Given the description of an element on the screen output the (x, y) to click on. 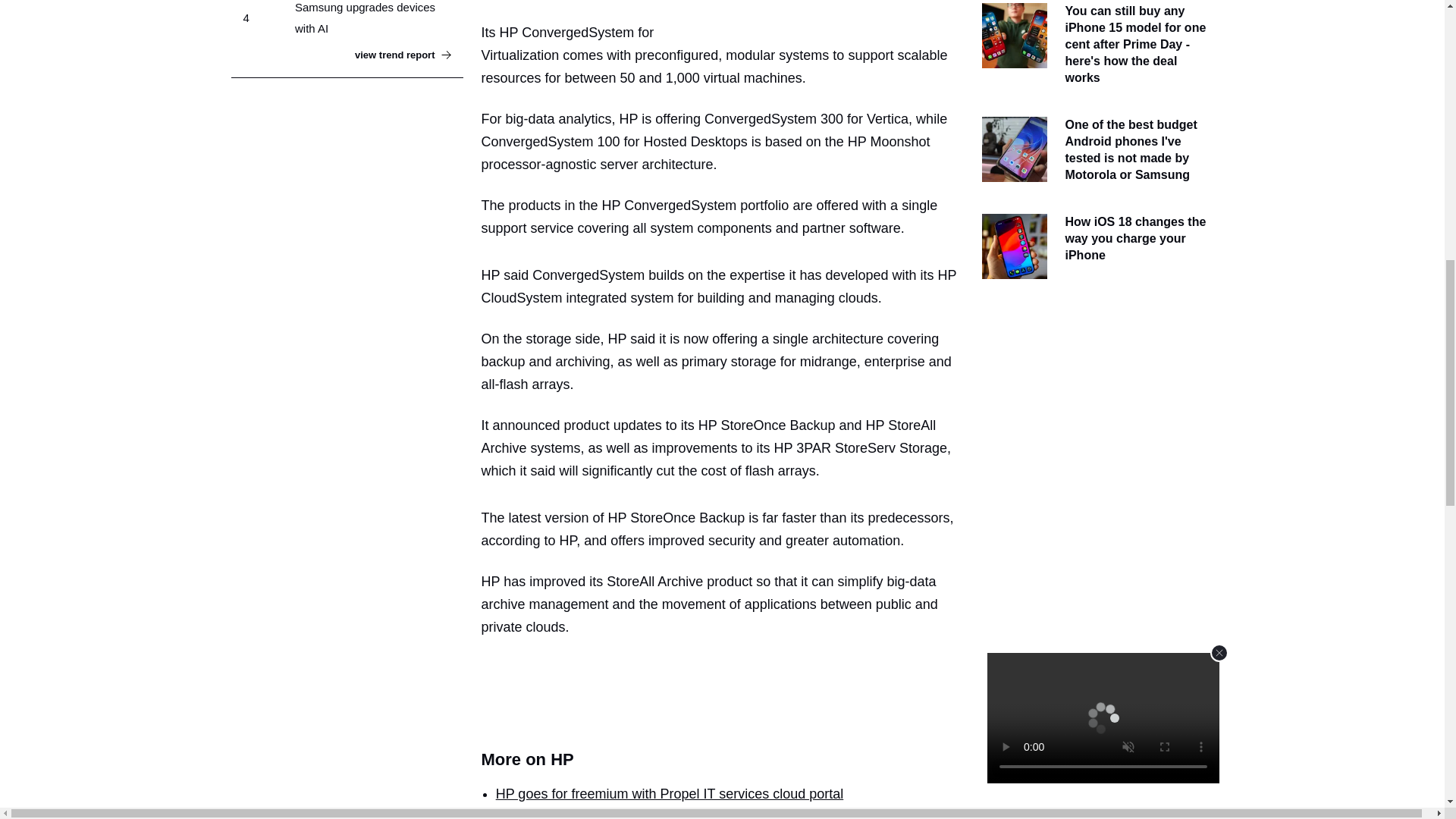
3rd party ad content (727, 690)
3rd party ad content (1097, 391)
